Given the description of an element on the screen output the (x, y) to click on. 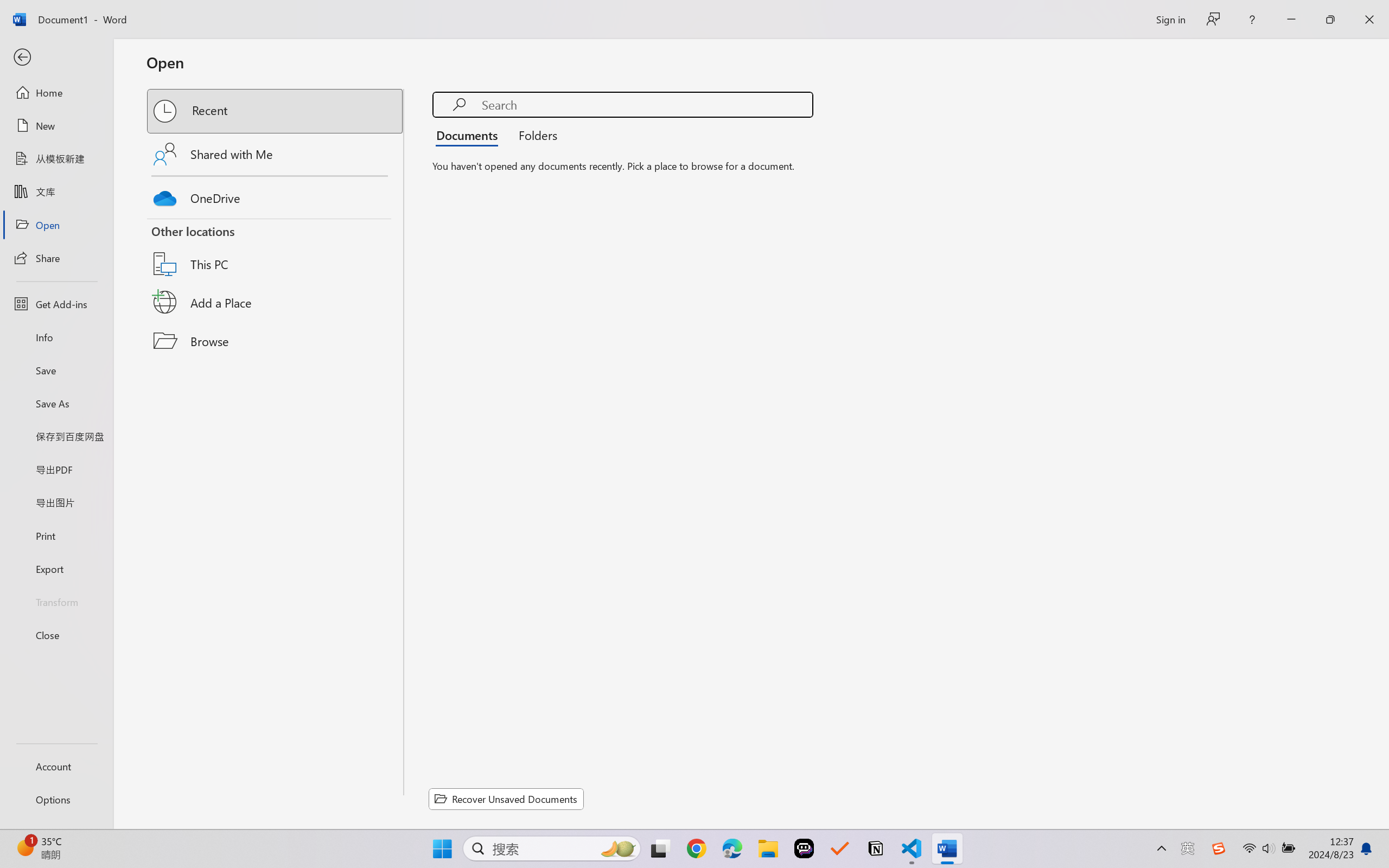
OneDrive (275, 195)
This PC (275, 249)
Info (56, 337)
Recover Unsaved Documents (506, 798)
Get Add-ins (56, 303)
